Given the description of an element on the screen output the (x, y) to click on. 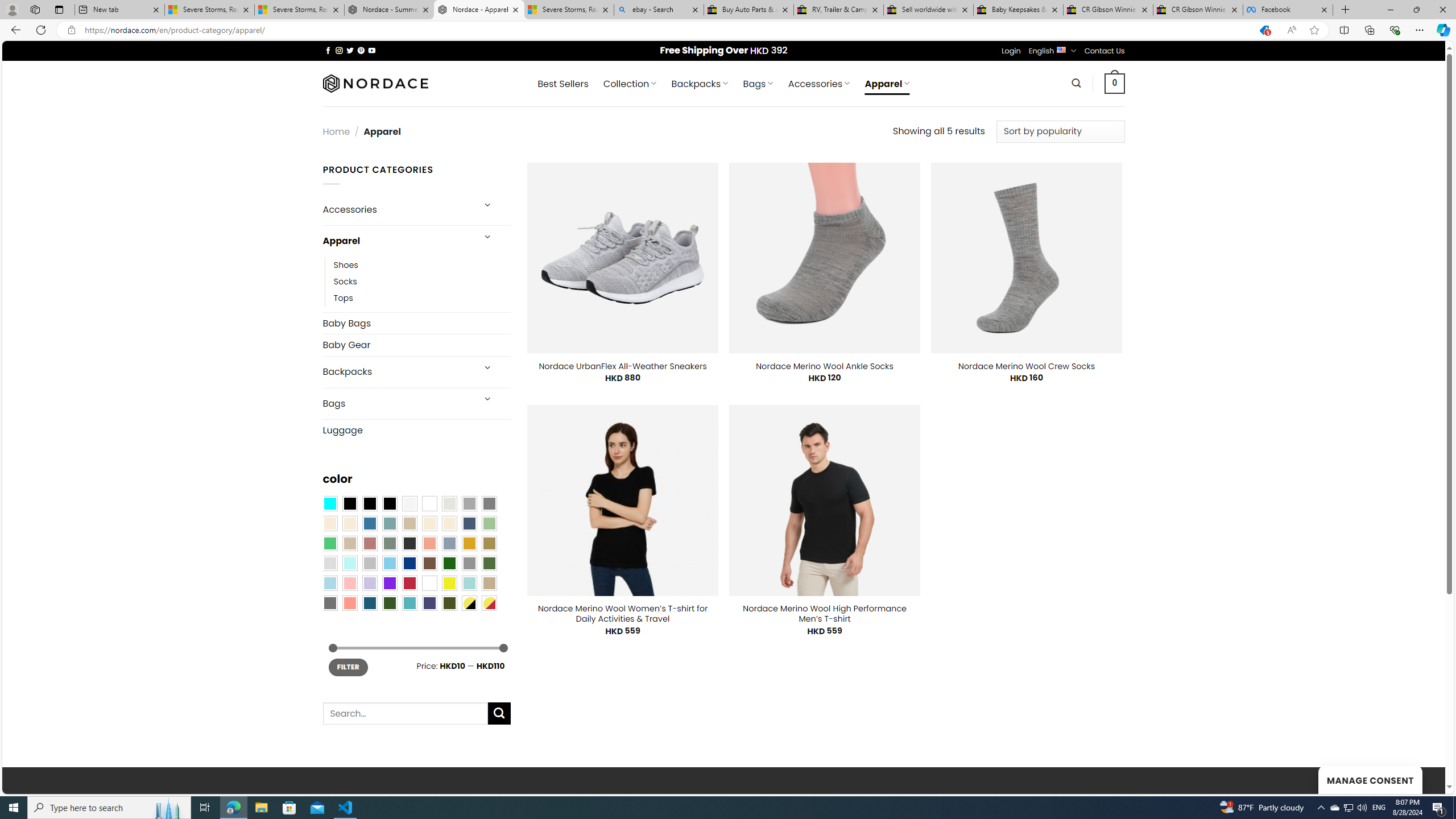
Socks (344, 280)
Brownie (408, 522)
Purple (389, 582)
Beige-Brown (349, 522)
Light Blue (329, 582)
Login (1010, 50)
Light Purple (369, 582)
Forest (389, 602)
